Given the description of an element on the screen output the (x, y) to click on. 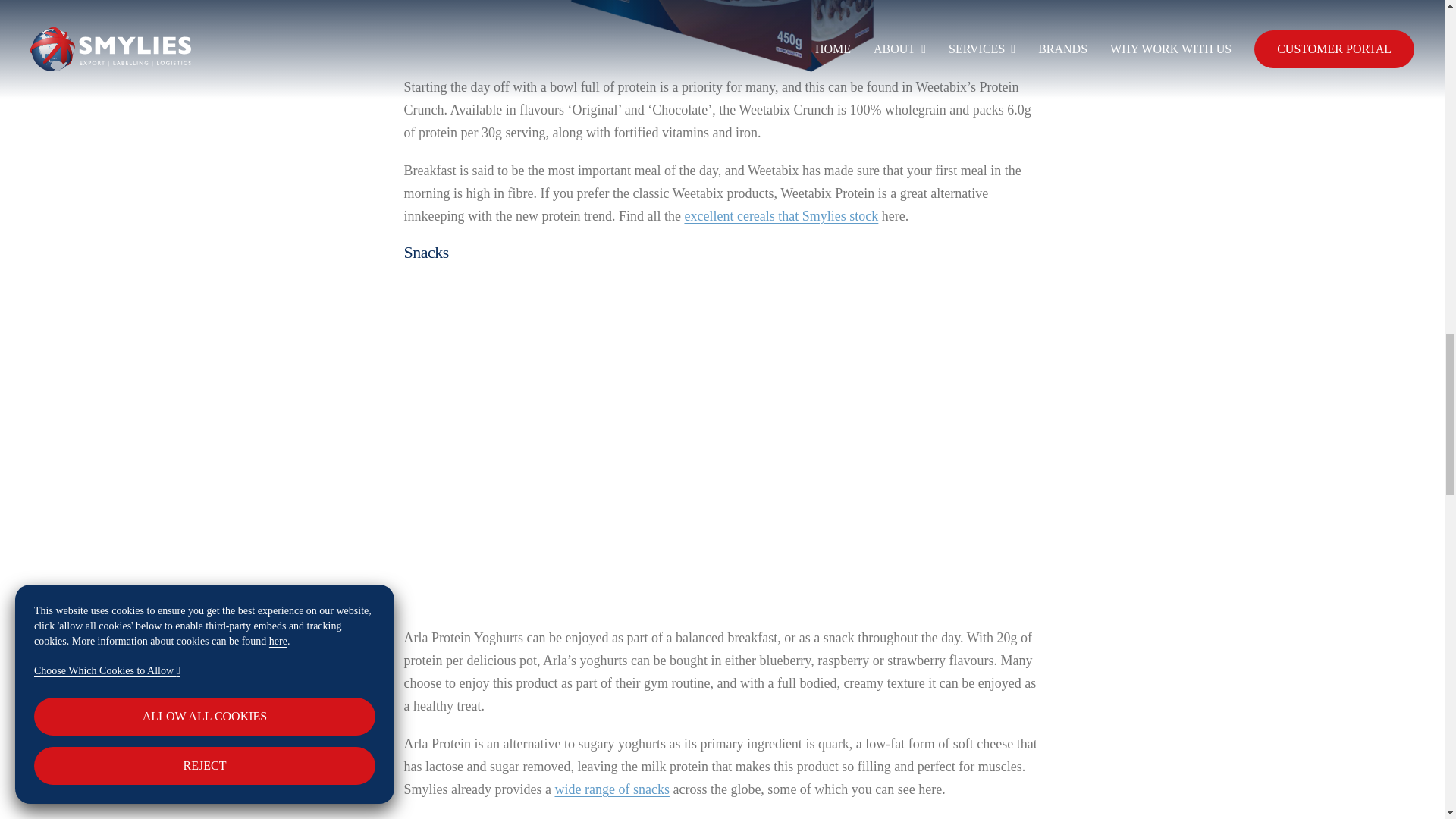
Smylies (611, 789)
Smylies (780, 215)
